Given the description of an element on the screen output the (x, y) to click on. 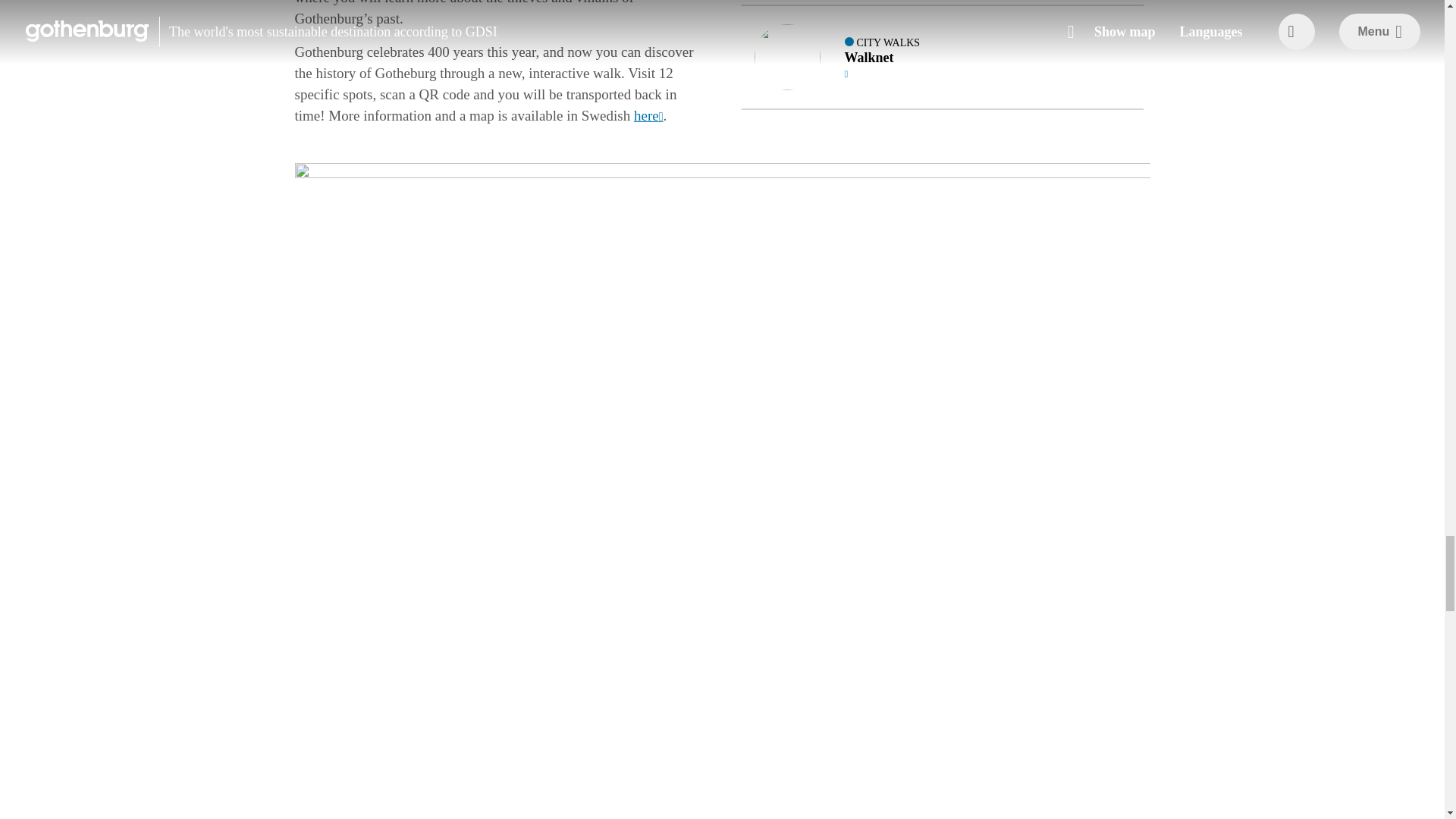
here (940, 56)
